Given the description of an element on the screen output the (x, y) to click on. 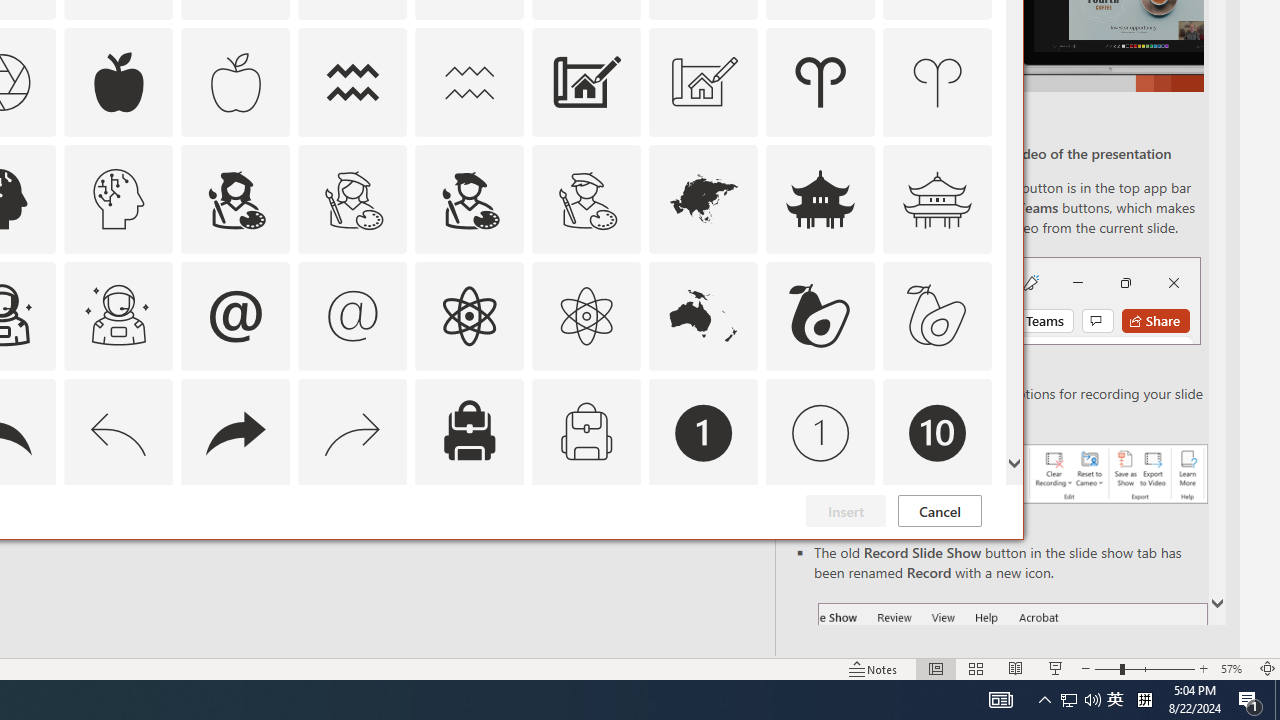
AutomationID: Icons (937, 550)
AutomationID: Icons_Badge1_M (820, 432)
Thumbnail (977, 511)
AutomationID: Icons_Architecture_M (703, 82)
AutomationID: Icons_Atom (469, 316)
